Given the description of an element on the screen output the (x, y) to click on. 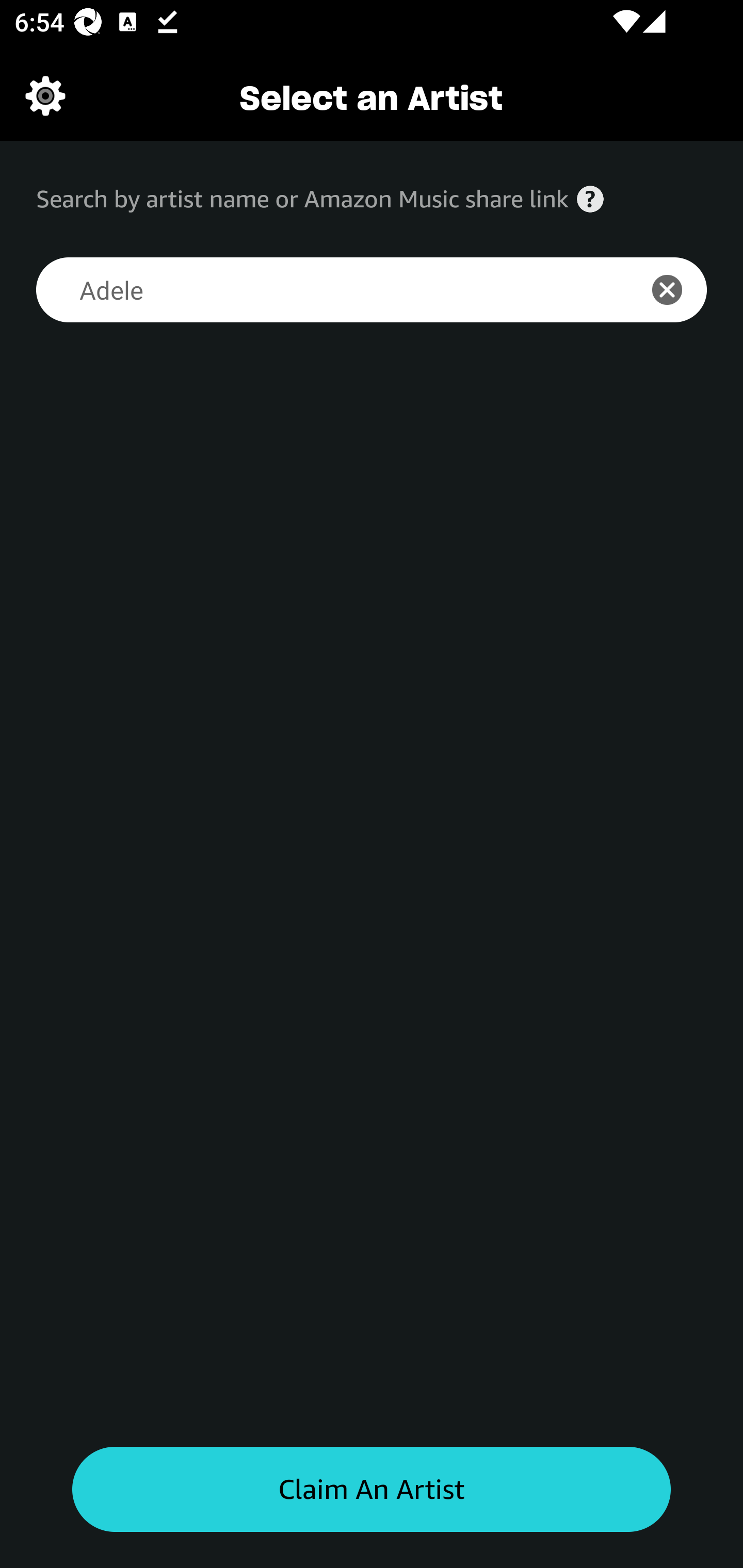
Help  icon (589, 199)
Adele Search for an artist search bar (324, 290)
 icon (677, 290)
Claim an artist button Claim An Artist (371, 1489)
